Given the description of an element on the screen output the (x, y) to click on. 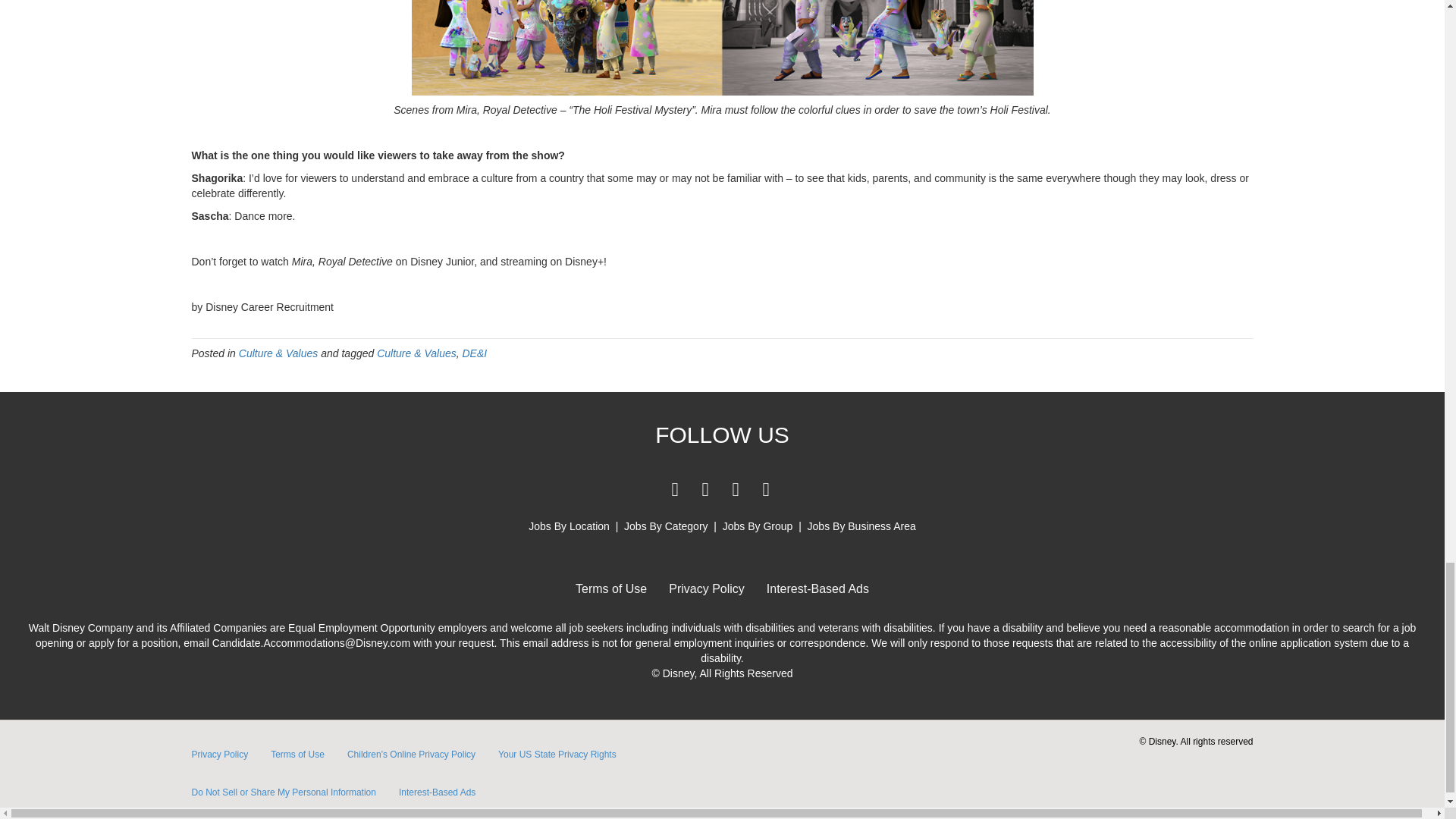
Terms of Use (297, 754)
Jobs By Group (757, 526)
Instagram (765, 489)
Interest-Based Ads (817, 589)
Facebook (674, 489)
LinkedIn (705, 489)
Terms of Use (611, 589)
Privacy Policy (706, 589)
Jobs By Business Area (861, 526)
Your US State Privacy Rights (556, 754)
